Given the description of an element on the screen output the (x, y) to click on. 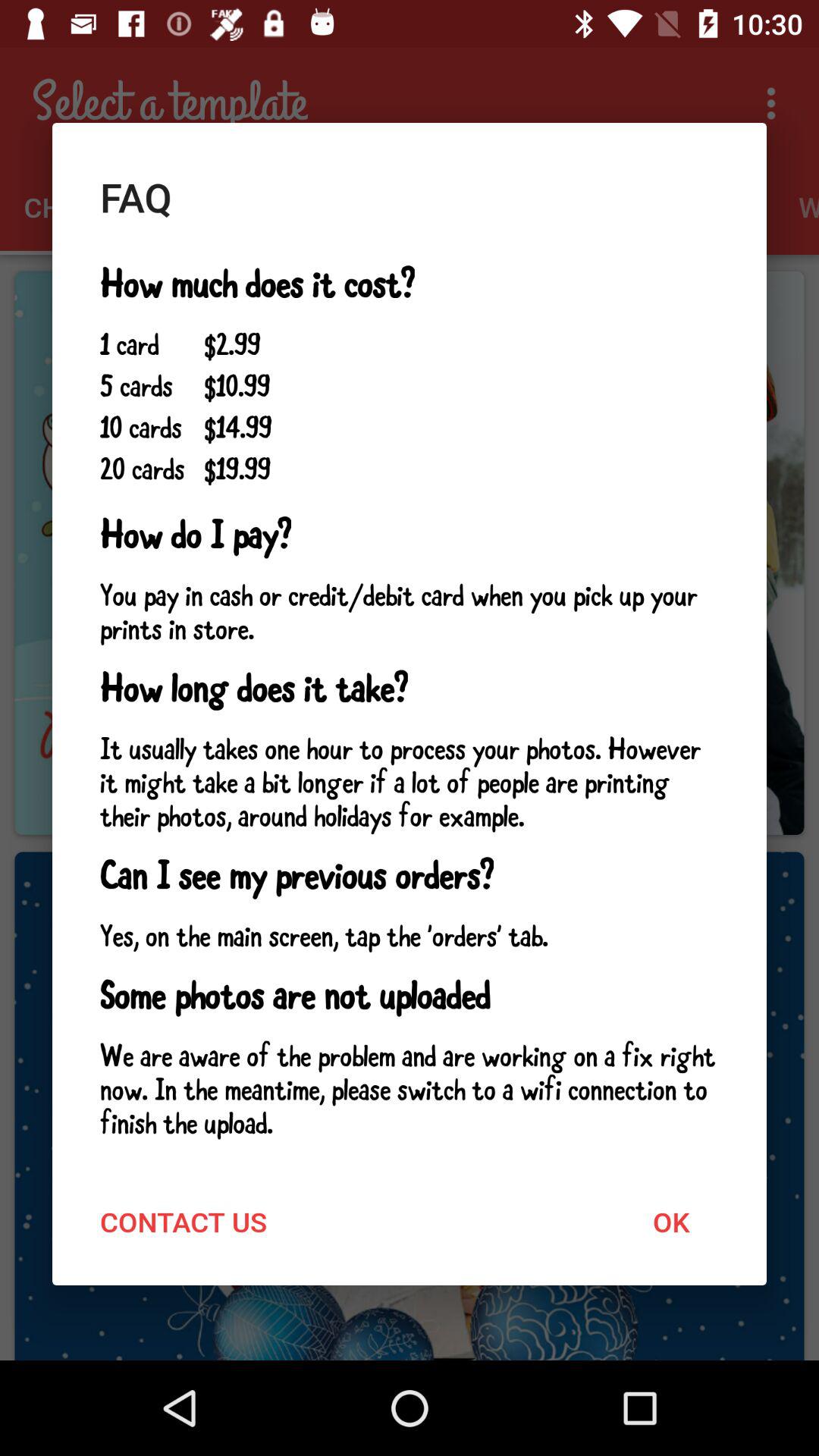
choose ok (670, 1221)
